Given the description of an element on the screen output the (x, y) to click on. 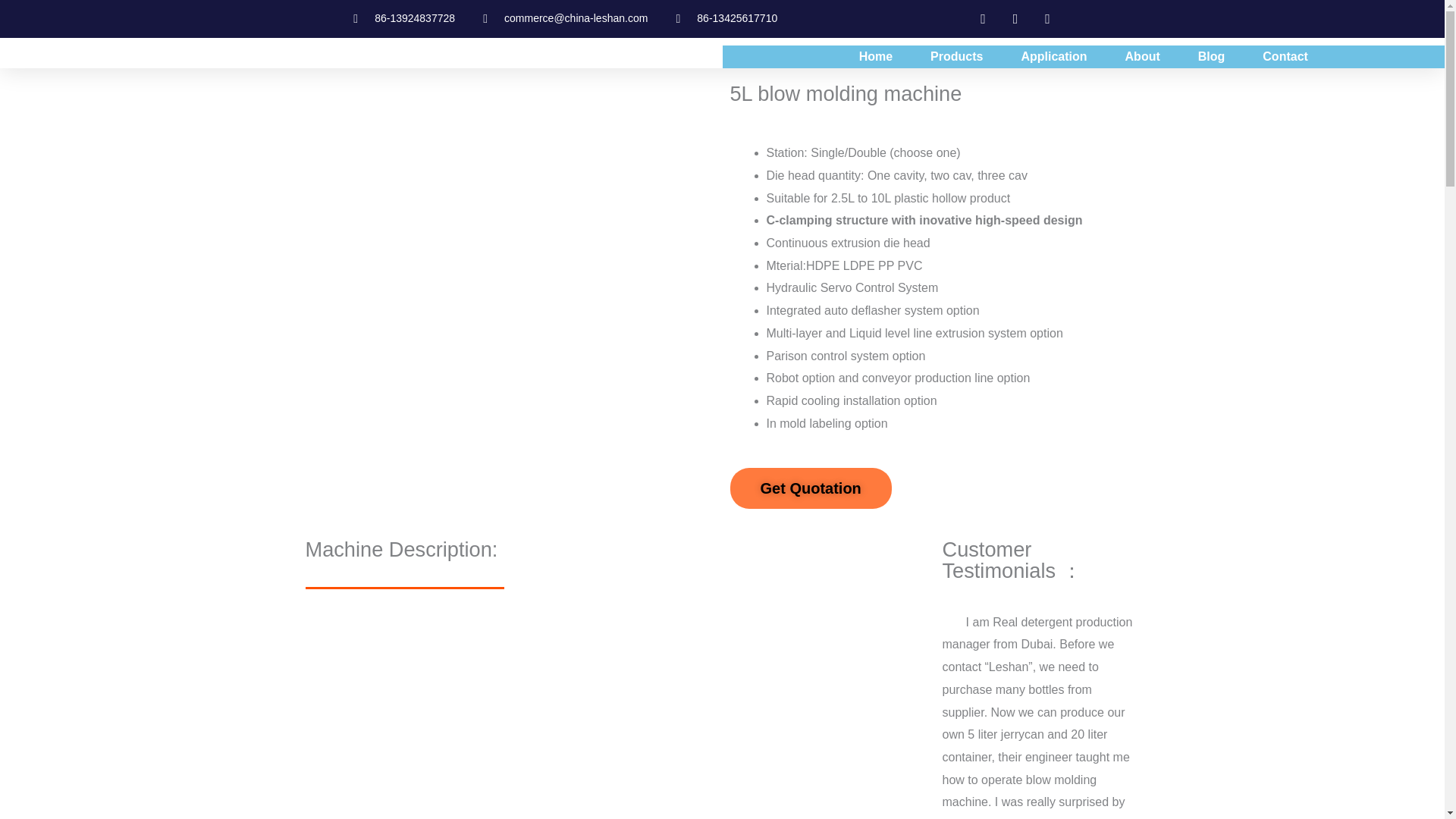
Application (1053, 56)
Products (956, 56)
About (1142, 56)
Blog (1210, 56)
Contact (1285, 56)
Home (876, 56)
